Given the description of an element on the screen output the (x, y) to click on. 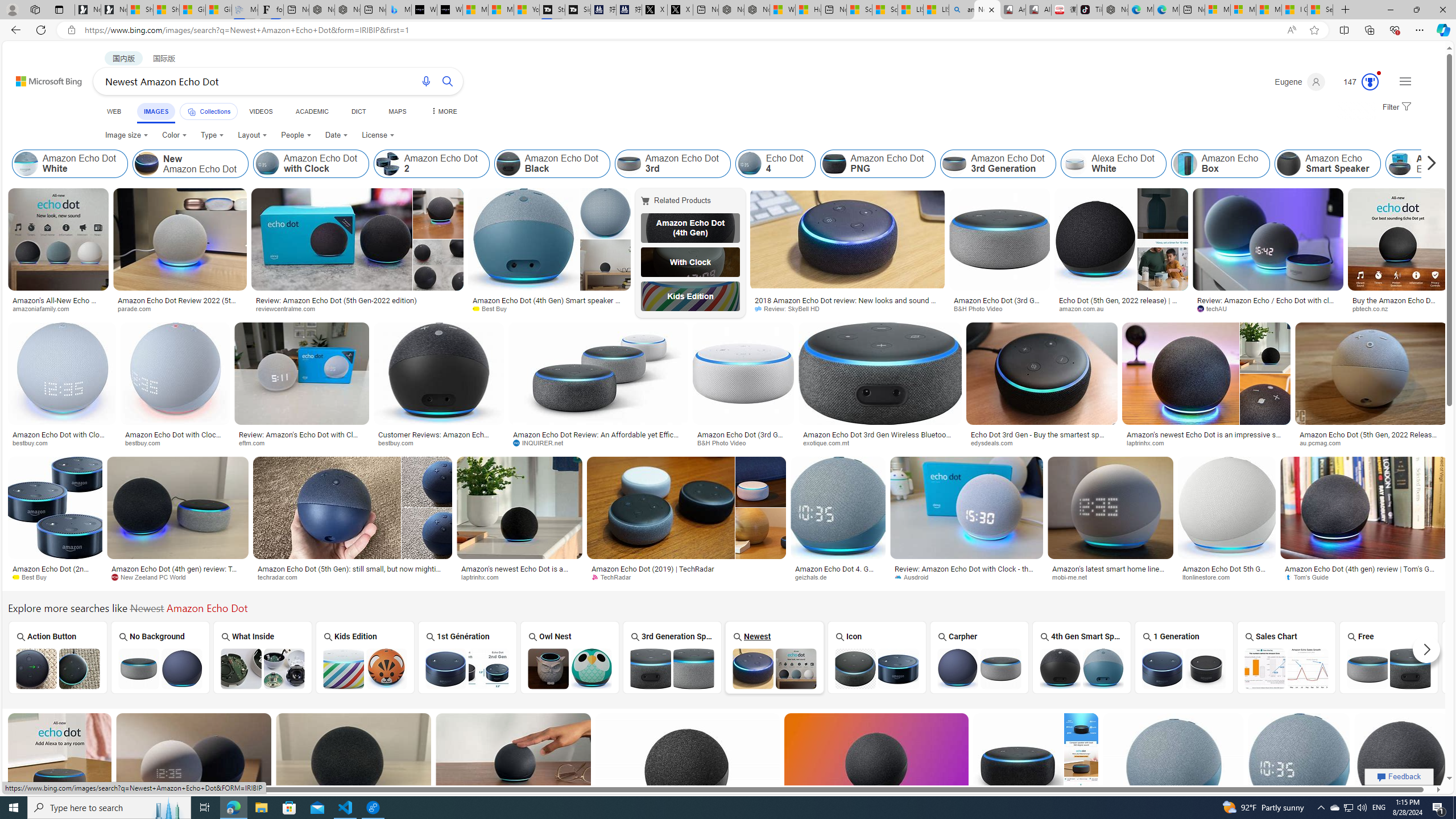
exotique.com.mt (879, 442)
edysdeals.com (1041, 442)
geizhals.de (814, 576)
Echo Dot 4 (748, 163)
